Given the description of an element on the screen output the (x, y) to click on. 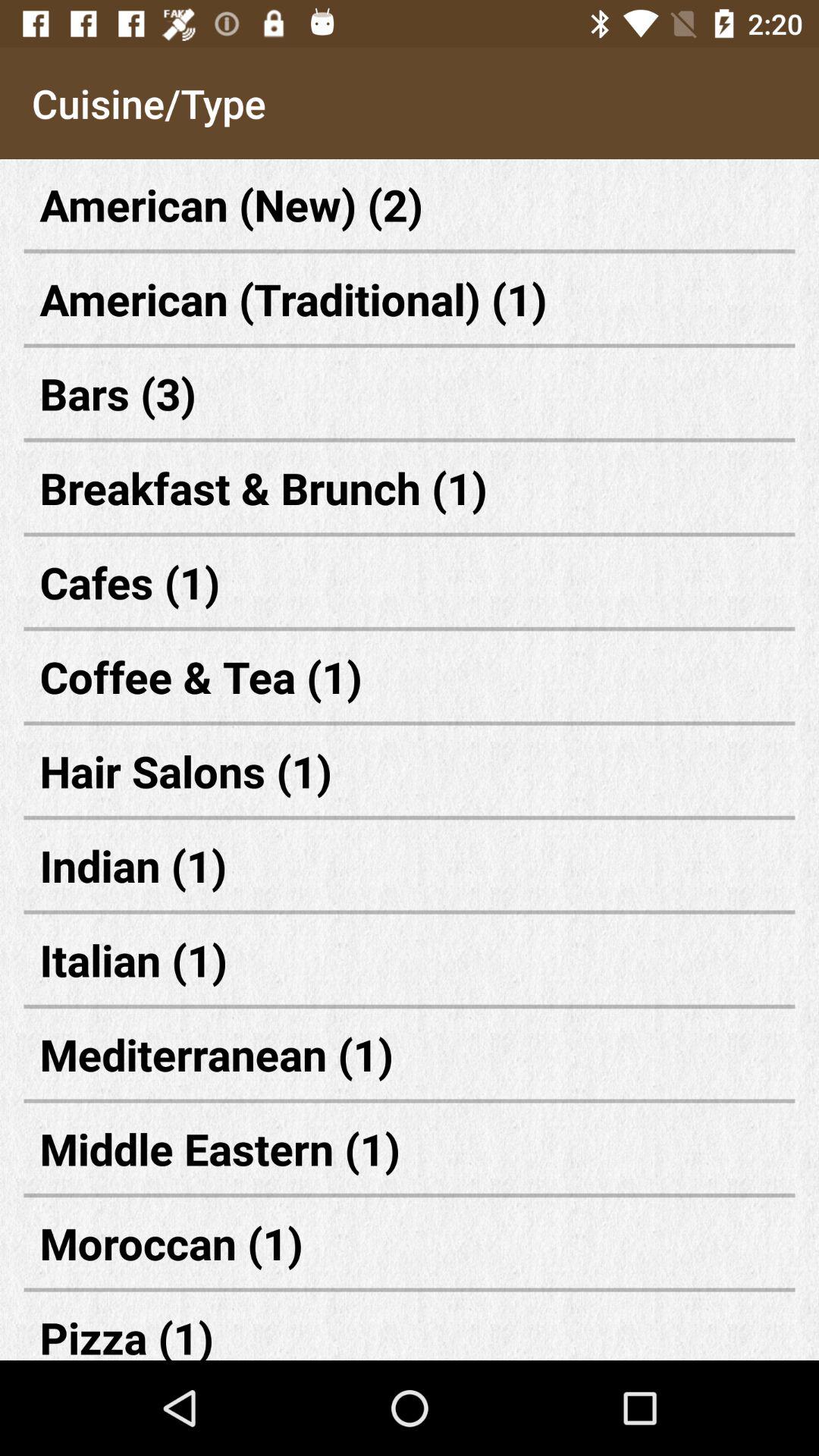
jump until the italian (1) (409, 959)
